Given the description of an element on the screen output the (x, y) to click on. 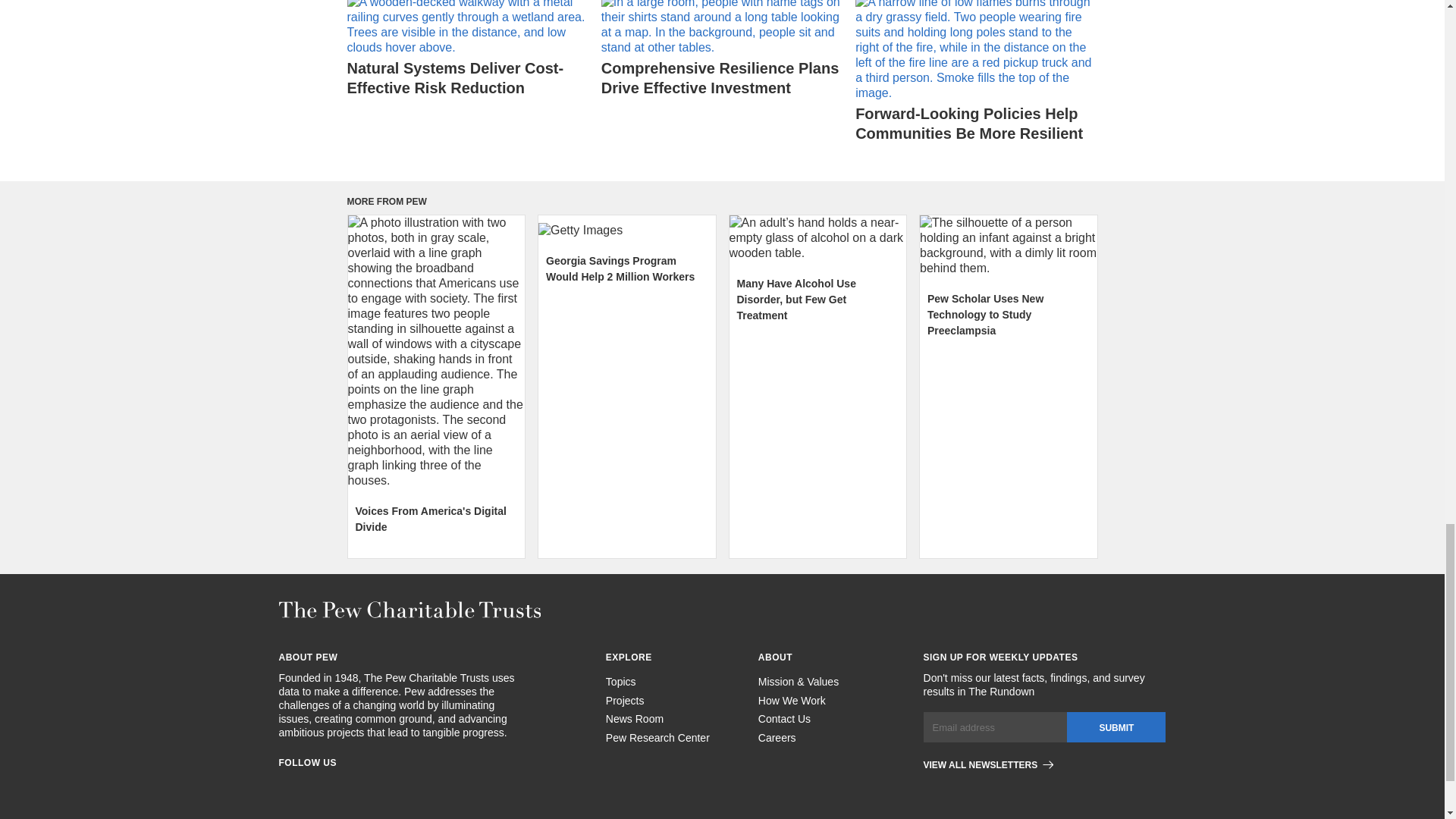
Getty Images (627, 230)
Facebook (285, 786)
Instagram (312, 786)
